Given the description of an element on the screen output the (x, y) to click on. 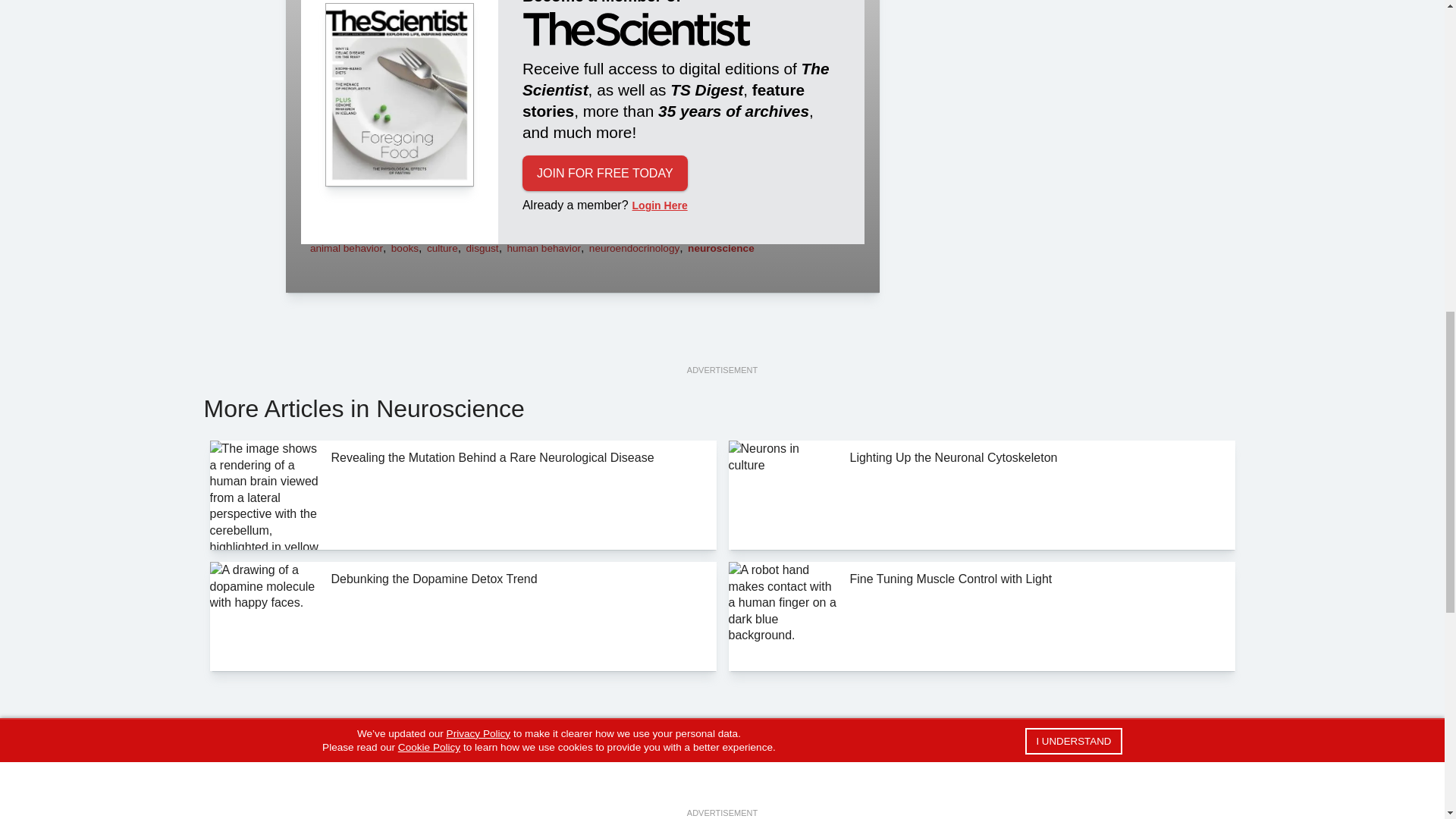
A drawing of a dopamine molecule with happy faces. (263, 615)
Magaizne Cover (399, 95)
Neurons in culture (782, 494)
